Given the description of an element on the screen output the (x, y) to click on. 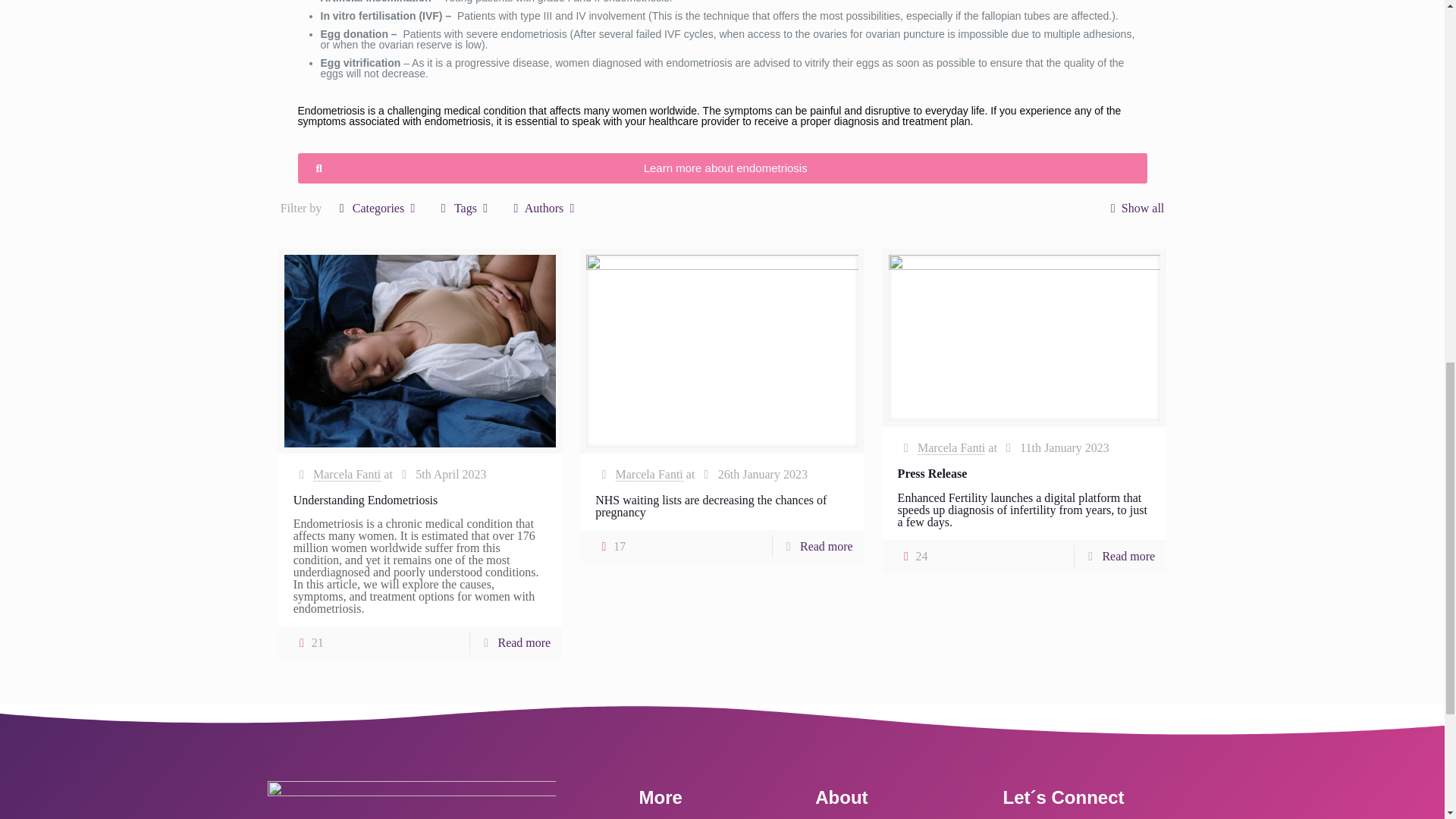
Categories (378, 207)
Tags (465, 207)
Authors (542, 207)
Learn more about endometriosis (722, 168)
Show all (1133, 207)
